Given the description of an element on the screen output the (x, y) to click on. 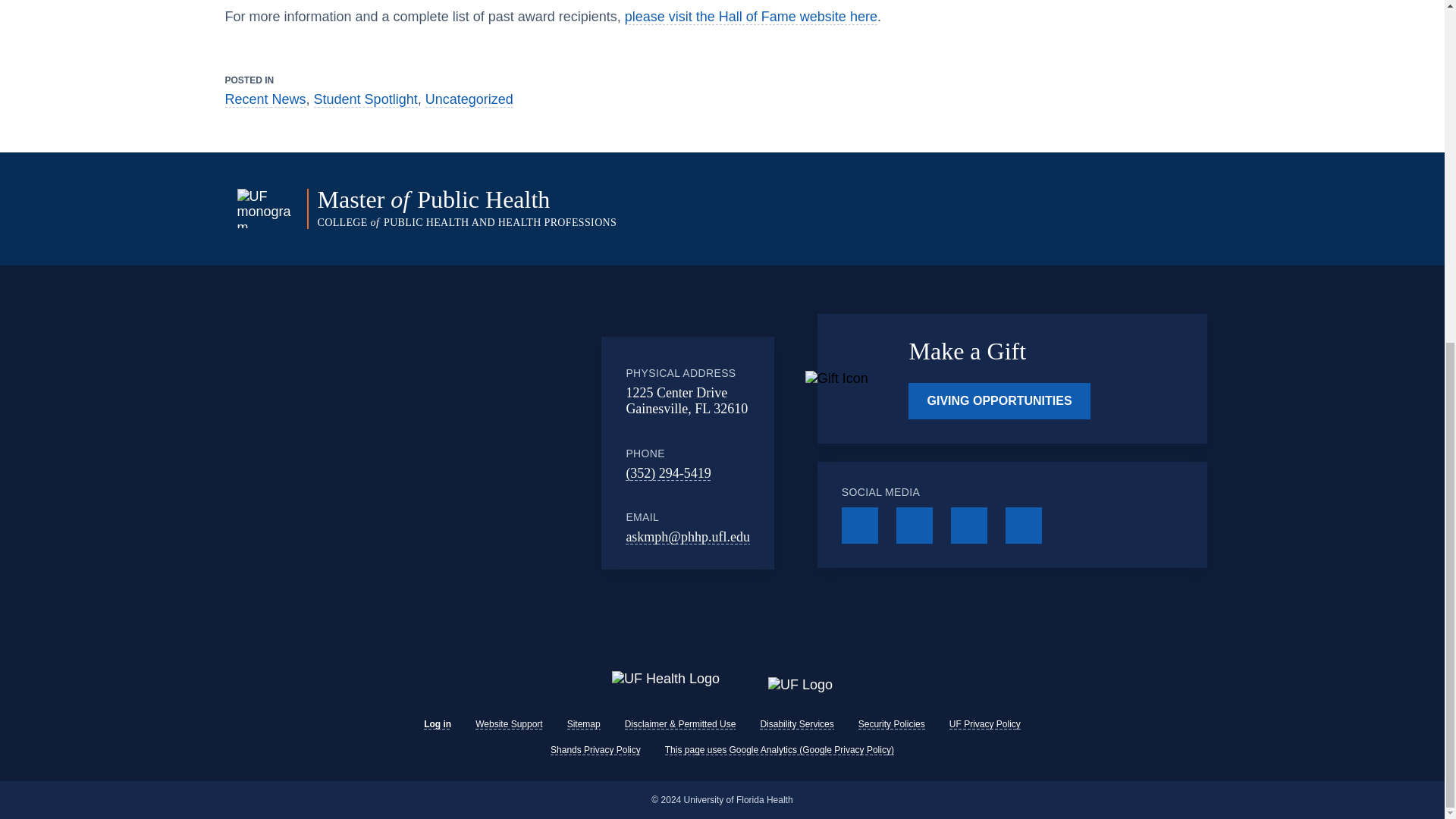
Disability Services (796, 724)
Sitemap (583, 724)
Security Policies (891, 724)
Shands Privacy Policy (595, 749)
Log in (437, 724)
UF Privacy Policy (984, 724)
Google Maps Embed (477, 452)
Website Support (509, 724)
